Given the description of an element on the screen output the (x, y) to click on. 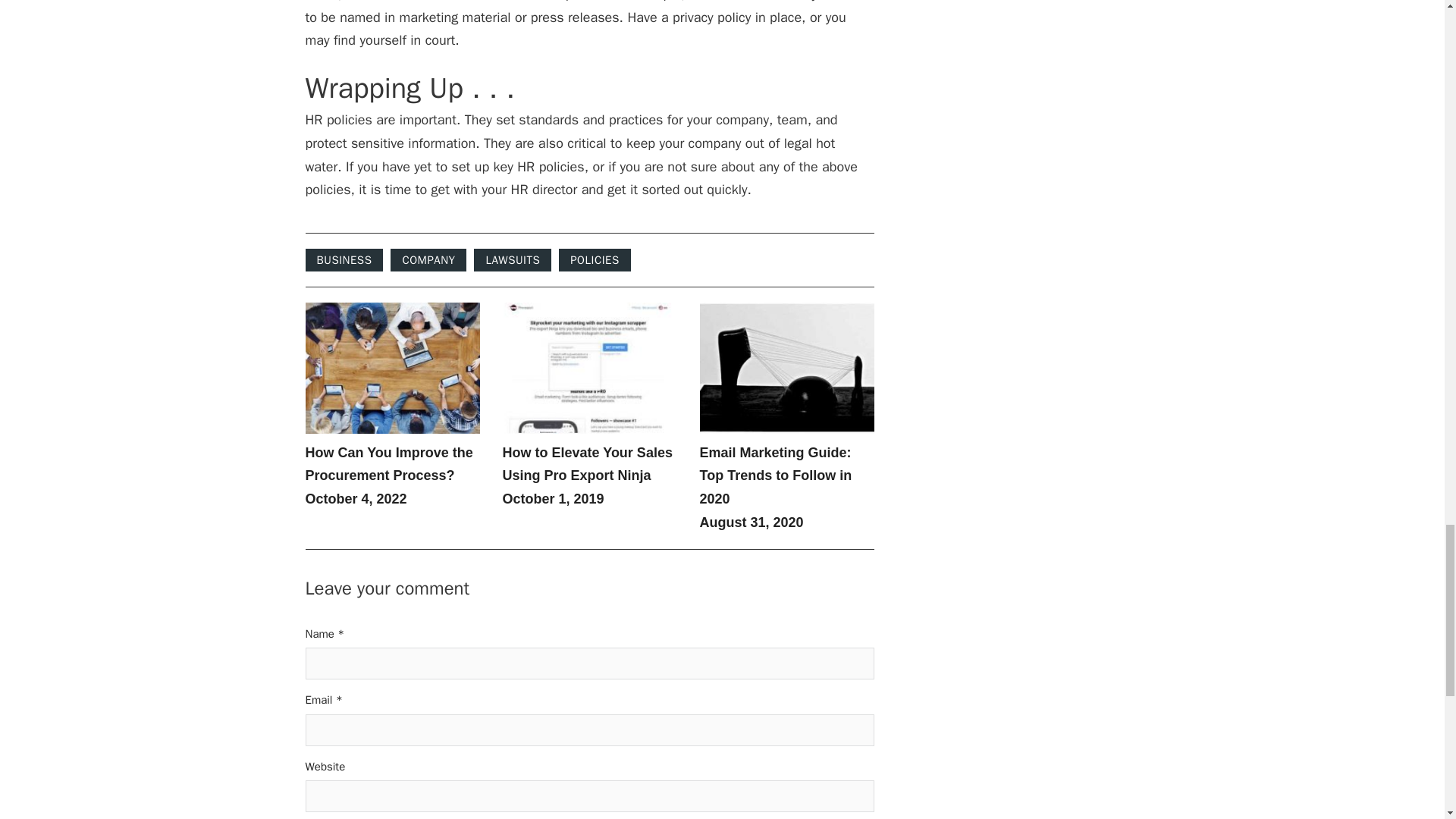
BUSINESS (343, 259)
COMPANY (427, 259)
LAWSUITS (512, 259)
POLICIES (594, 259)
How Can You Improve the Procurement Process? (387, 464)
